Given the description of an element on the screen output the (x, y) to click on. 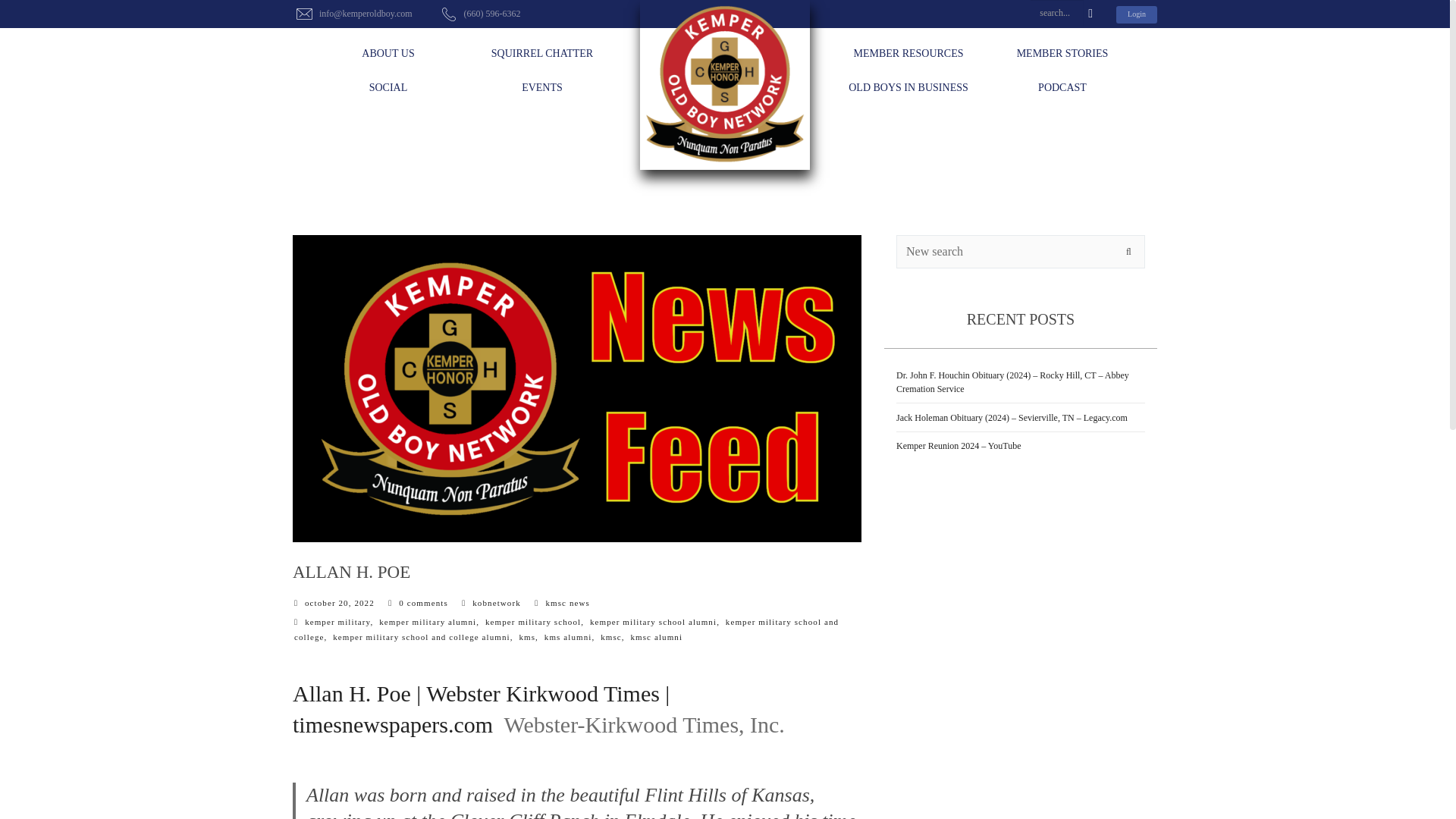
OLD BOYS IN BUSINESS (907, 88)
MEMBER STORIES (1062, 53)
The Kemper Old Boy Network (724, 84)
Login (1136, 14)
EVENTS (541, 88)
Login (1136, 14)
ABOUT US (387, 53)
SOCIAL (387, 88)
PODCAST (1061, 88)
MEMBER RESOURCES (907, 53)
SQUIRREL CHATTER (541, 53)
